Given the description of an element on the screen output the (x, y) to click on. 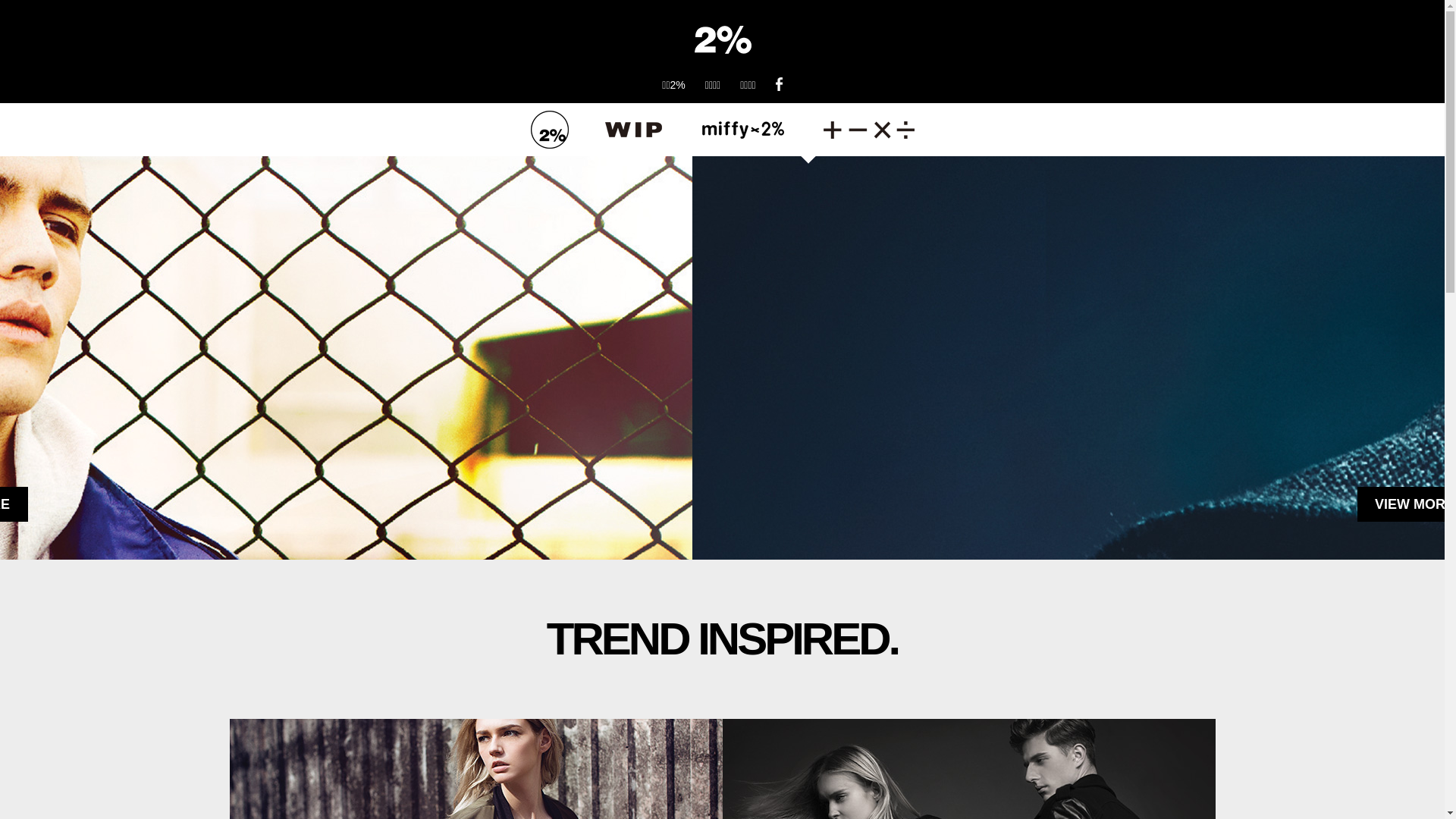
VIEW MORE Element type: text (721, 503)
